Given the description of an element on the screen output the (x, y) to click on. 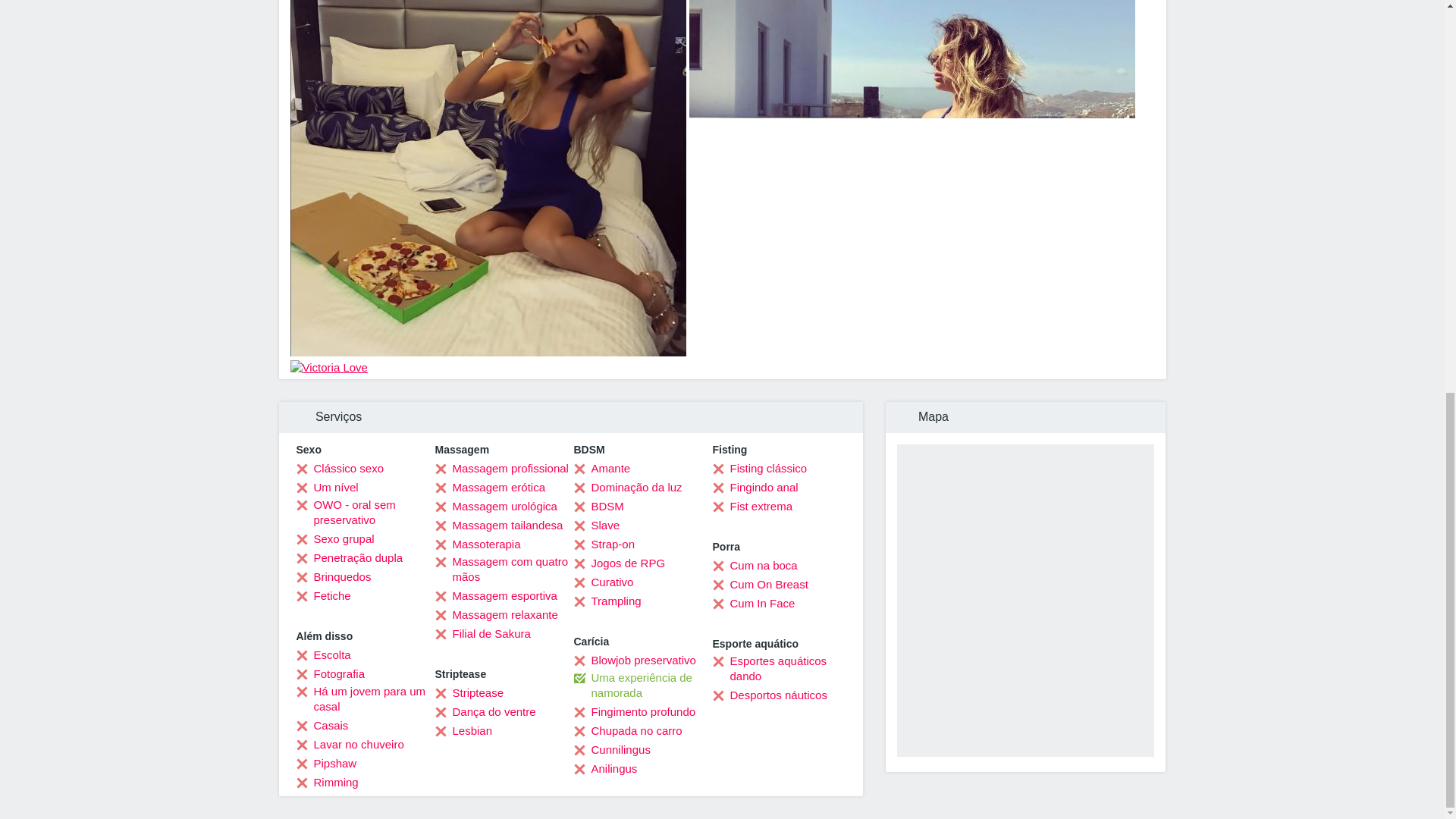
Lavar no chuveiro (349, 744)
Pipshaw (325, 763)
OWO - oral sem preservativo (364, 512)
Massagem tailandesa (499, 525)
Massoterapia (478, 544)
Rimming (326, 782)
Brinquedos (333, 576)
Escolta (322, 654)
Sexo grupal (334, 539)
Fetiche (322, 595)
